Given the description of an element on the screen output the (x, y) to click on. 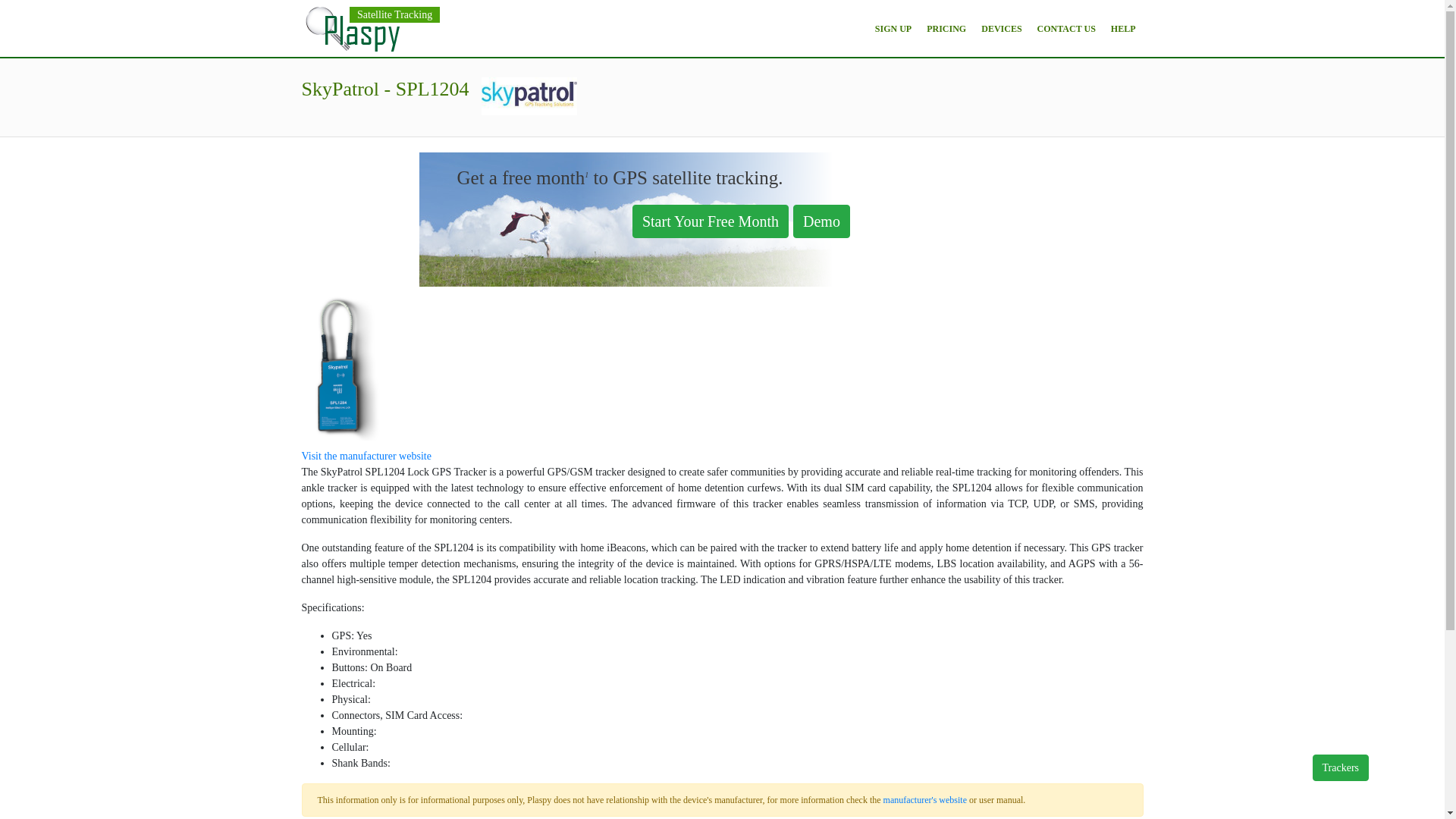
Trackers (1340, 767)
Satellite Tracking (394, 14)
Visit the manufacturer website (365, 455)
CONTACT US (1066, 28)
DEVICES (1001, 28)
Demo (822, 222)
manufacturer's website (924, 799)
SIGN UP (892, 28)
Trackers (1340, 767)
PRICING (946, 28)
Start Your Free Month (710, 221)
